Given the description of an element on the screen output the (x, y) to click on. 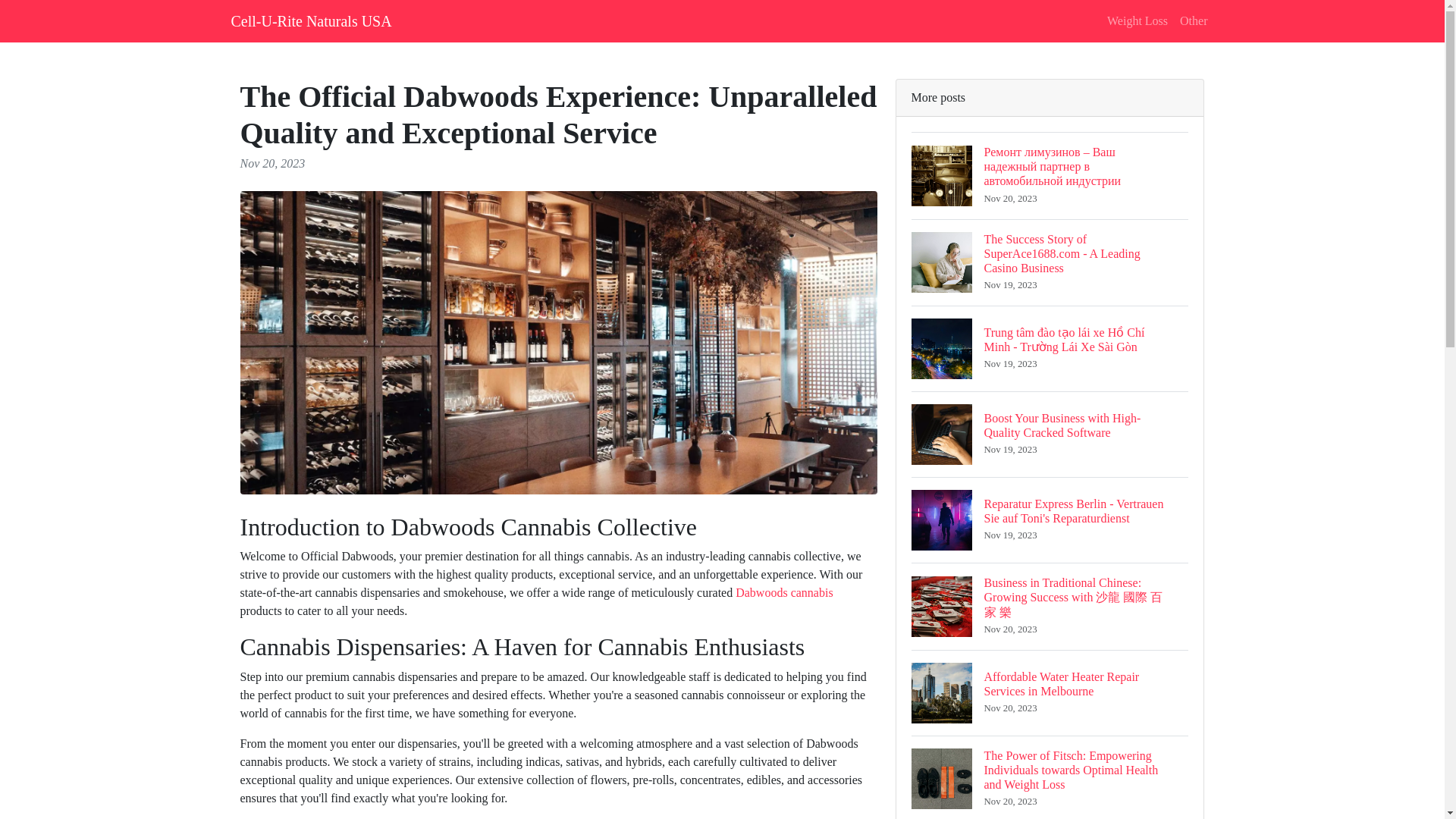
Weight Loss (1136, 20)
Cell-U-Rite Naturals USA (310, 20)
Dabwoods cannabis (783, 592)
Other (1192, 20)
